Given the description of an element on the screen output the (x, y) to click on. 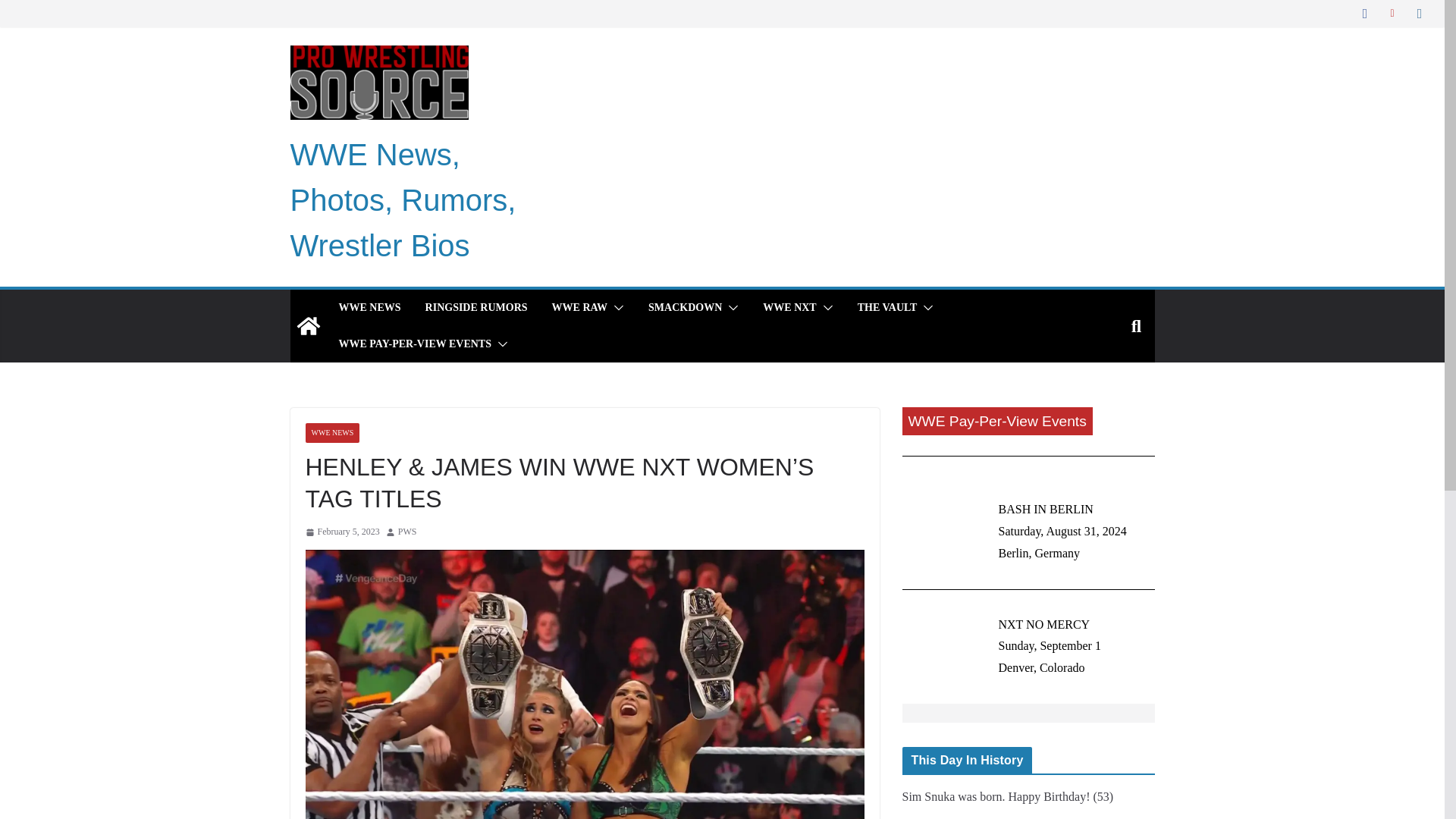
WWE PAY-PER-VIEW EVENTS (414, 343)
2:22 PM (341, 532)
WWE RAW (579, 307)
PWS (406, 532)
WWE News, Photos, Rumors, Wrestler Bios (402, 200)
WWE NXT (788, 307)
February 5, 2023 (341, 532)
SMACKDOWN (684, 307)
PWS (406, 532)
WWE News, Photos, Rumors, Wrestler Bios (402, 200)
